Given the description of an element on the screen output the (x, y) to click on. 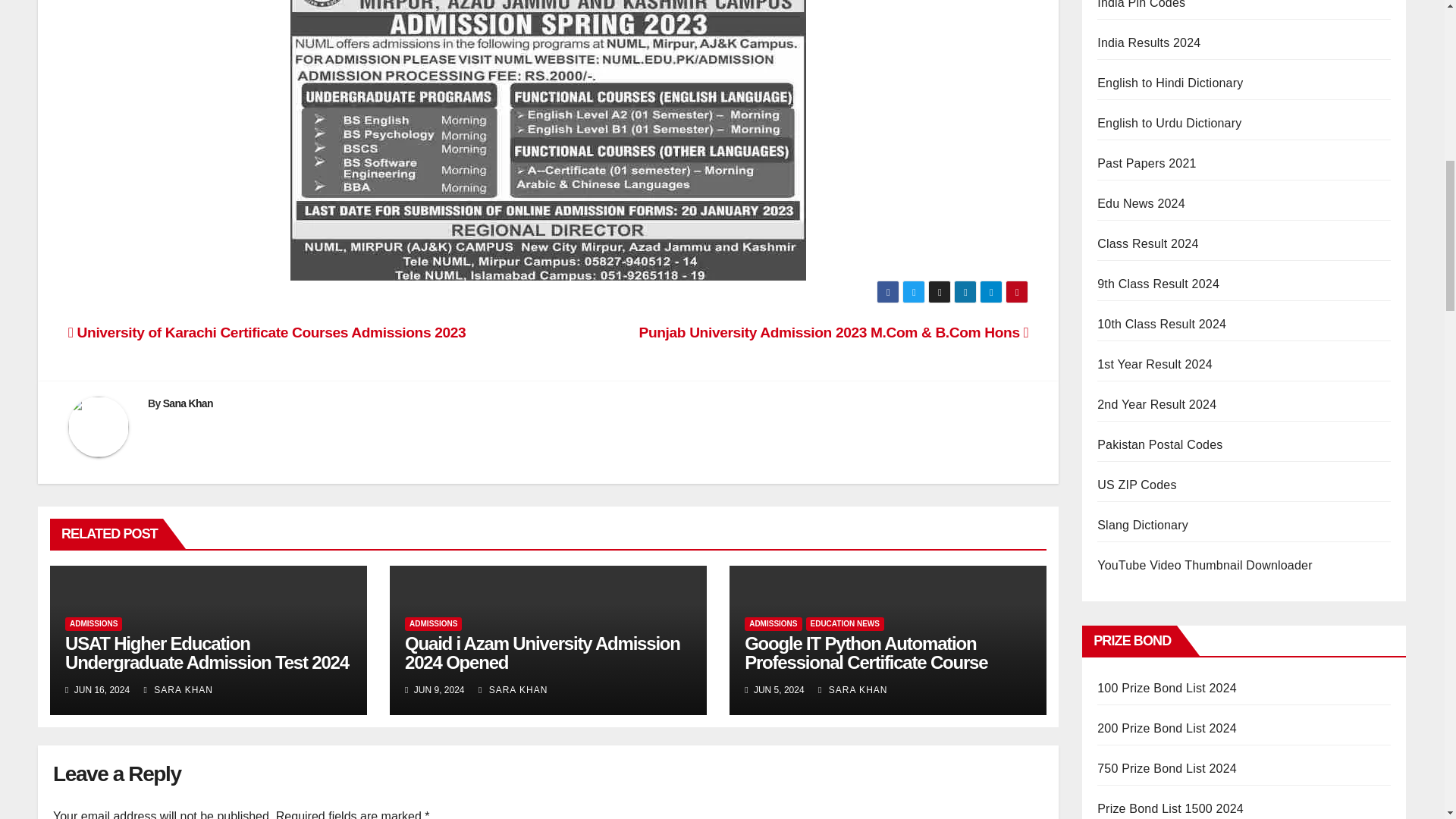
Permalink to: Quaid i Azam University Admission 2024 Opened (541, 652)
